Given the description of an element on the screen output the (x, y) to click on. 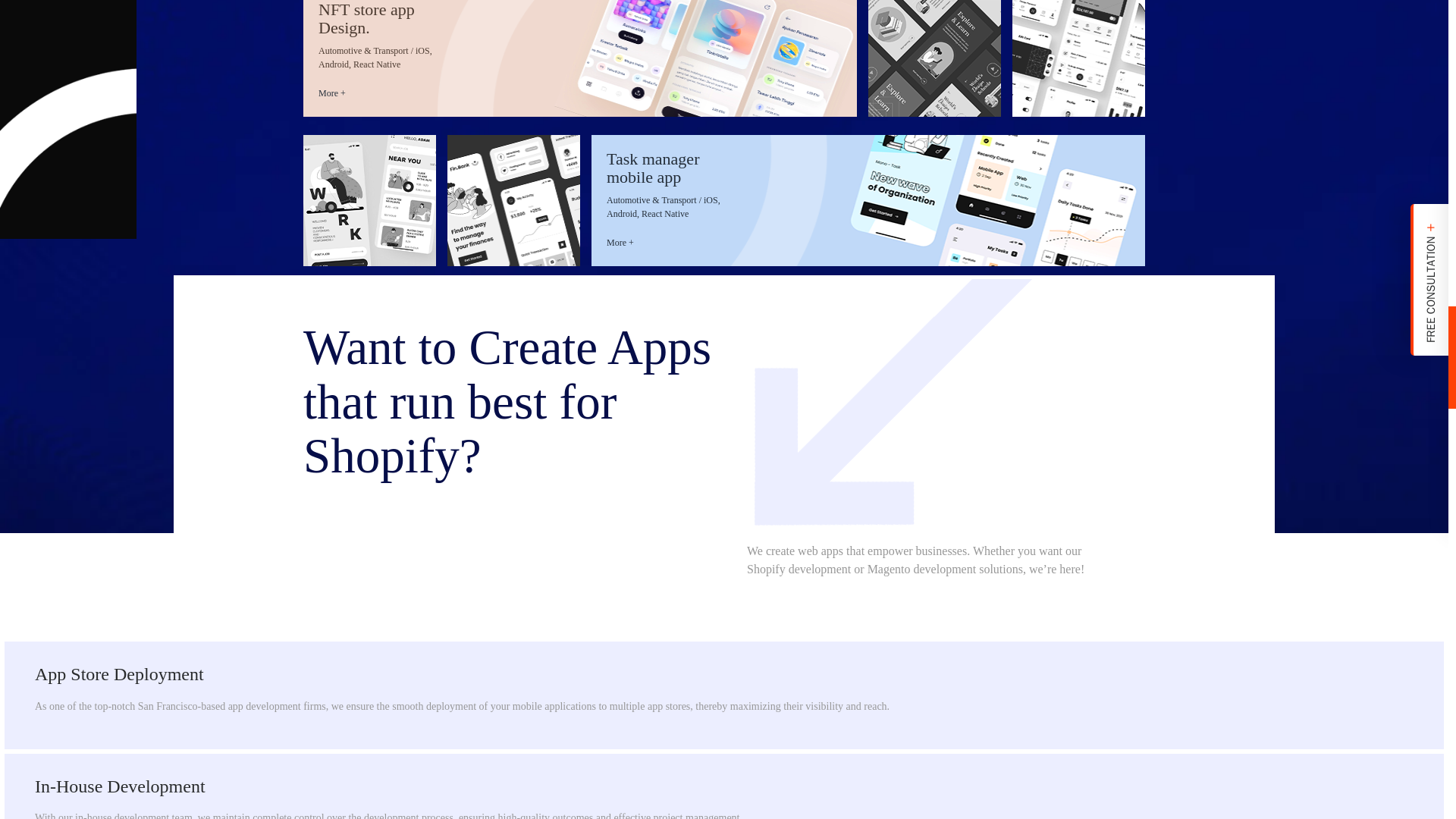
Image of service port with user interface design (512, 200)
Icon image of arrow for navigation and user interface design (902, 408)
Image of service portfolio for digital product development (579, 58)
